Given the description of an element on the screen output the (x, y) to click on. 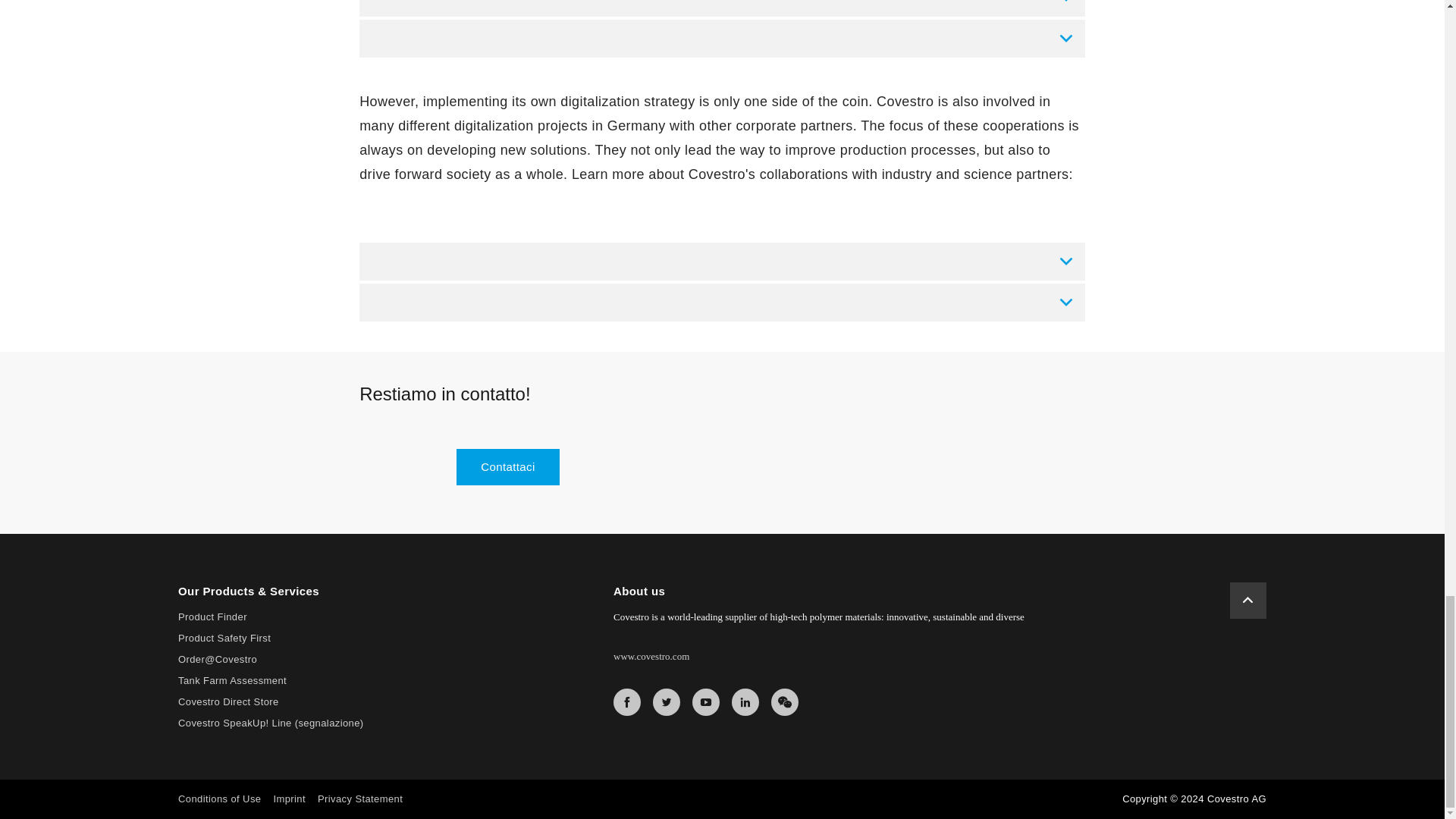
Product Finder (212, 616)
Imprint (289, 798)
Tank Farm Assessment (231, 680)
Product Safety First (223, 637)
Covestro Direct Store (228, 701)
Conditions of Use (218, 798)
Privacy Statement (360, 798)
